Given the description of an element on the screen output the (x, y) to click on. 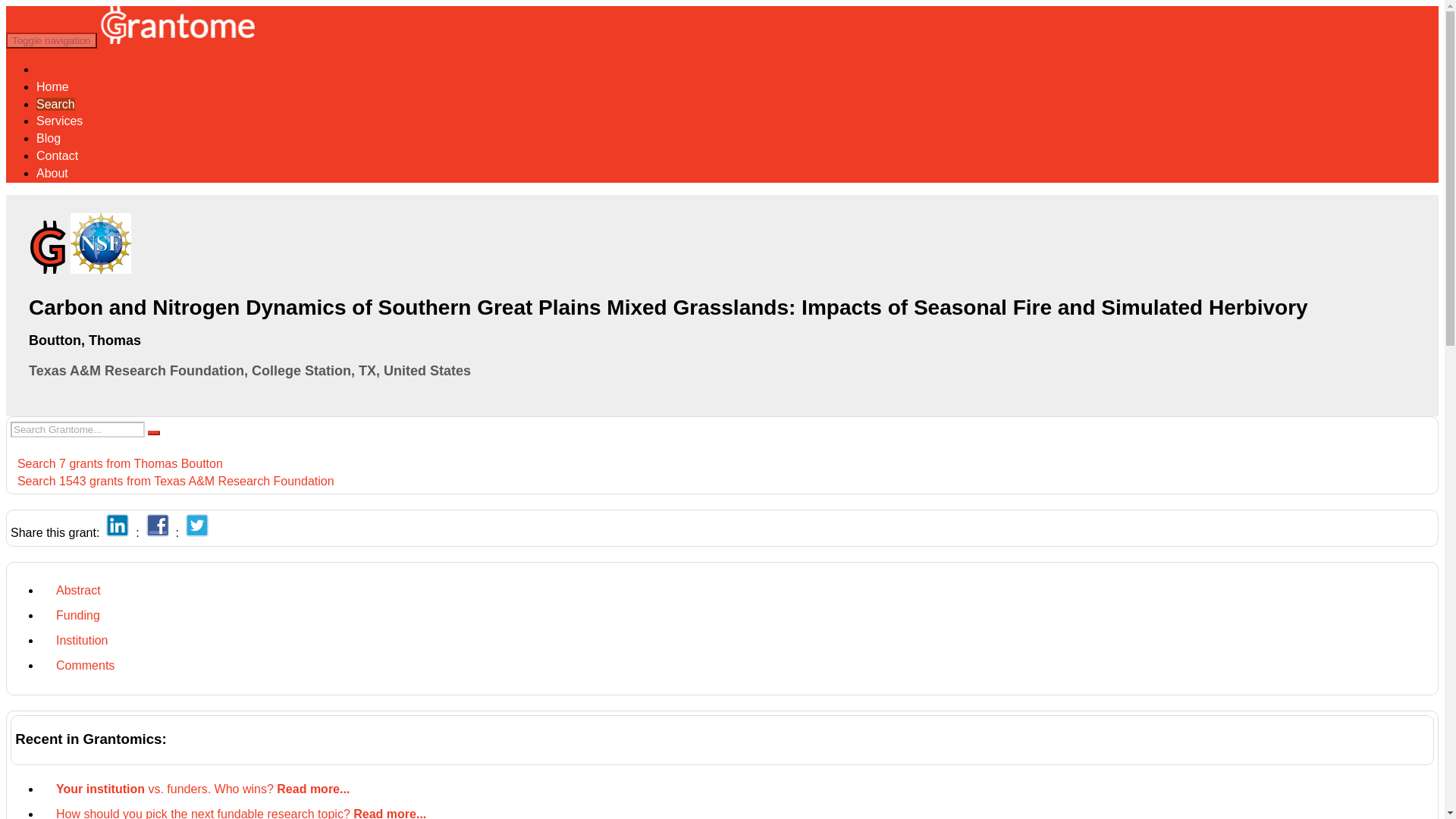
Blog (48, 137)
Home (52, 86)
Share on Facebook... (157, 532)
Toggle navigation (51, 40)
  Search 7 grants from Thomas Boutton (116, 463)
Search (55, 103)
Link to Boutton's Pubmed publication list... (86, 340)
Services (59, 120)
Boutton, Thomas (86, 340)
Contact (57, 155)
Search Thomas Boutton in Grantome... (116, 463)
Share on LinkedIn... (117, 532)
About (52, 173)
Share on Twitter... (197, 532)
